Given the description of an element on the screen output the (x, y) to click on. 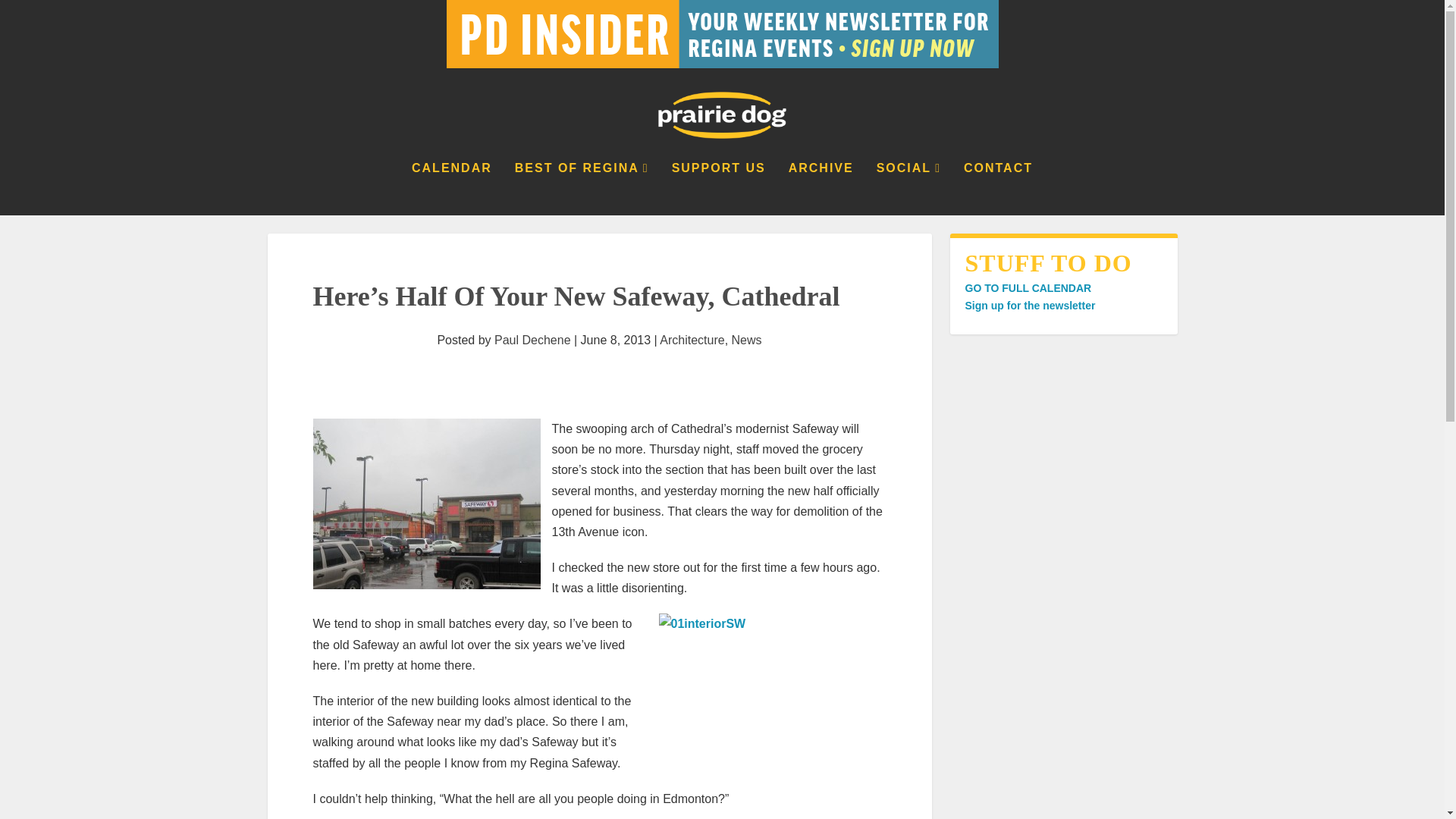
BEST OF REGINA (582, 188)
CALENDAR (452, 188)
SUPPORT US (718, 188)
Architecture (691, 339)
GO TO FULL CALENDAR (1026, 287)
SOCIAL (908, 188)
Sign up for the newsletter (1028, 305)
ARCHIVE (821, 188)
Paul Dechene (532, 339)
Posts by Paul Dechene (532, 339)
CONTACT (997, 188)
News (746, 339)
